Given the description of an element on the screen output the (x, y) to click on. 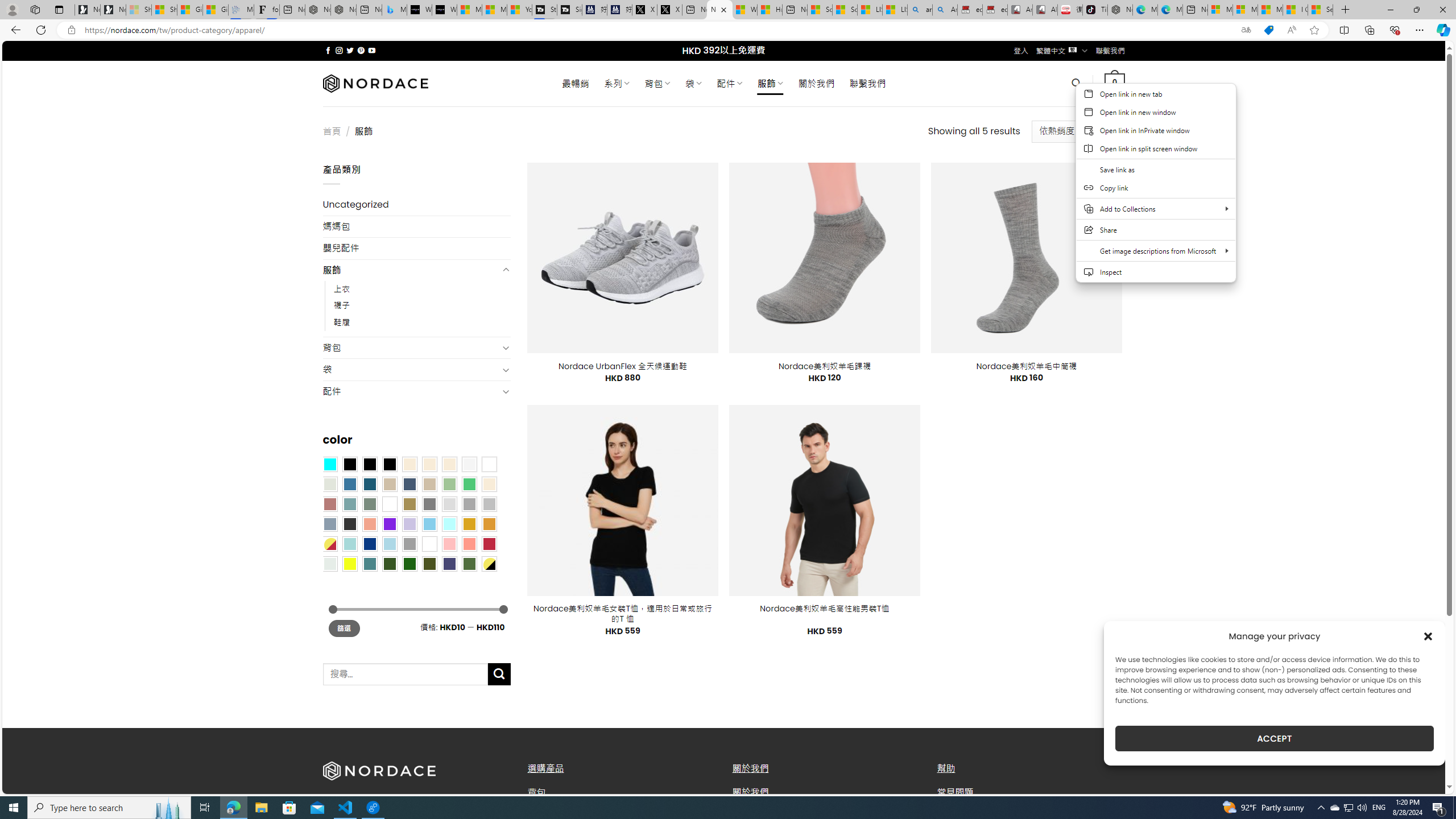
Follow on Instagram (338, 50)
